Given the description of an element on the screen output the (x, y) to click on. 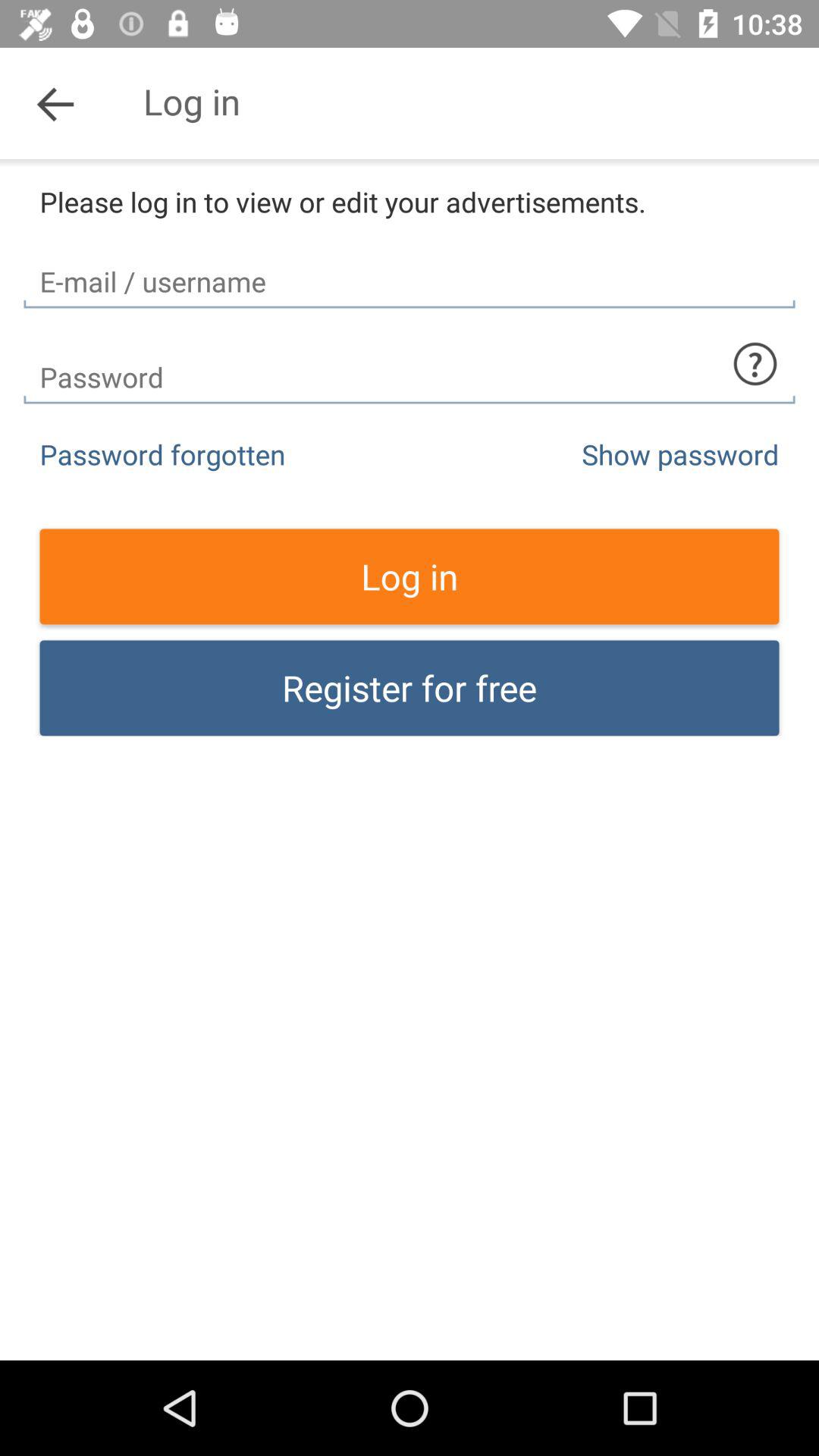
launch item above the log in item (680, 454)
